Given the description of an element on the screen output the (x, y) to click on. 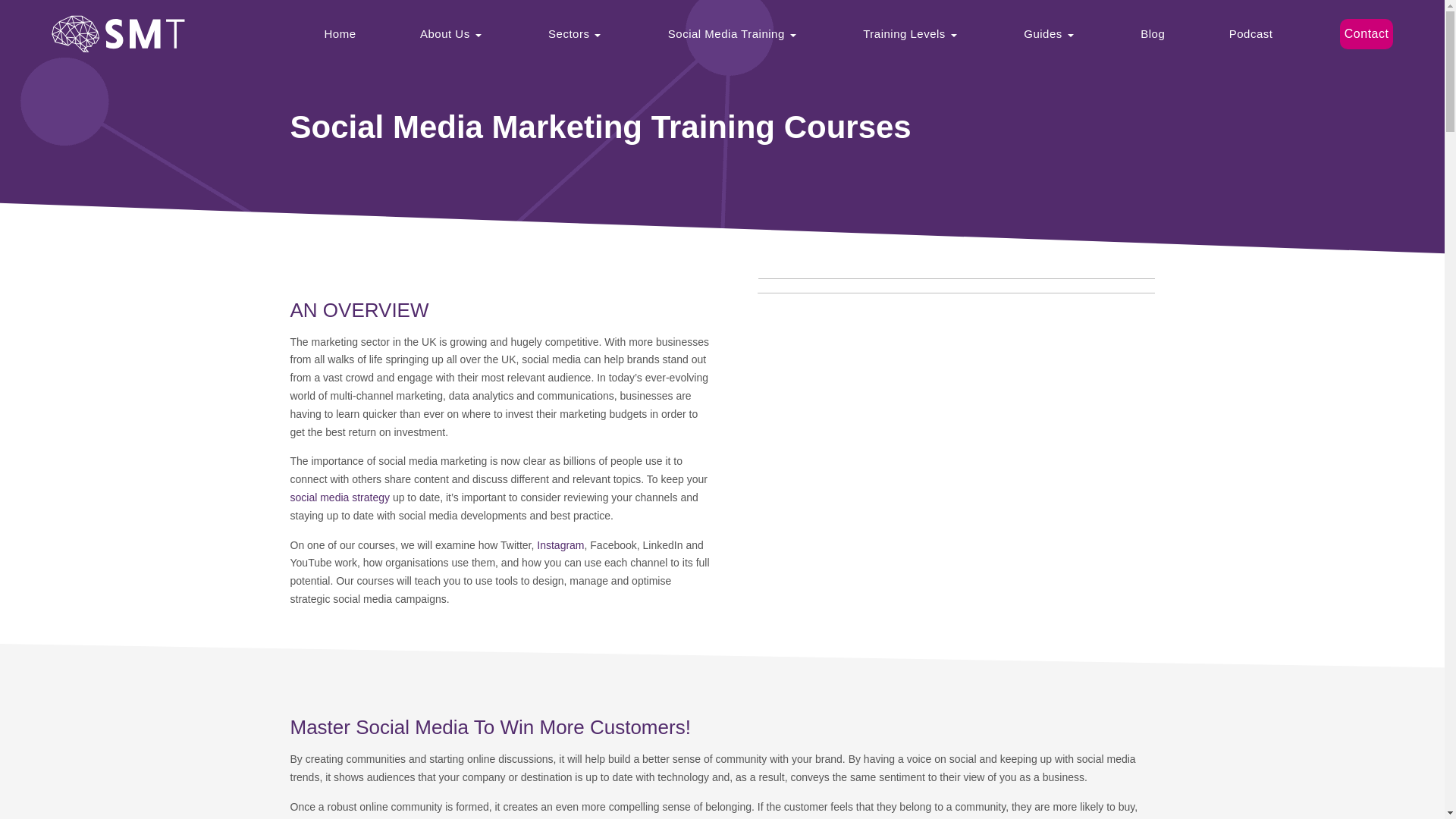
Home (340, 33)
About Us (451, 33)
Social Media Training (733, 33)
Instagram (560, 544)
Sectors (575, 33)
